Given the description of an element on the screen output the (x, y) to click on. 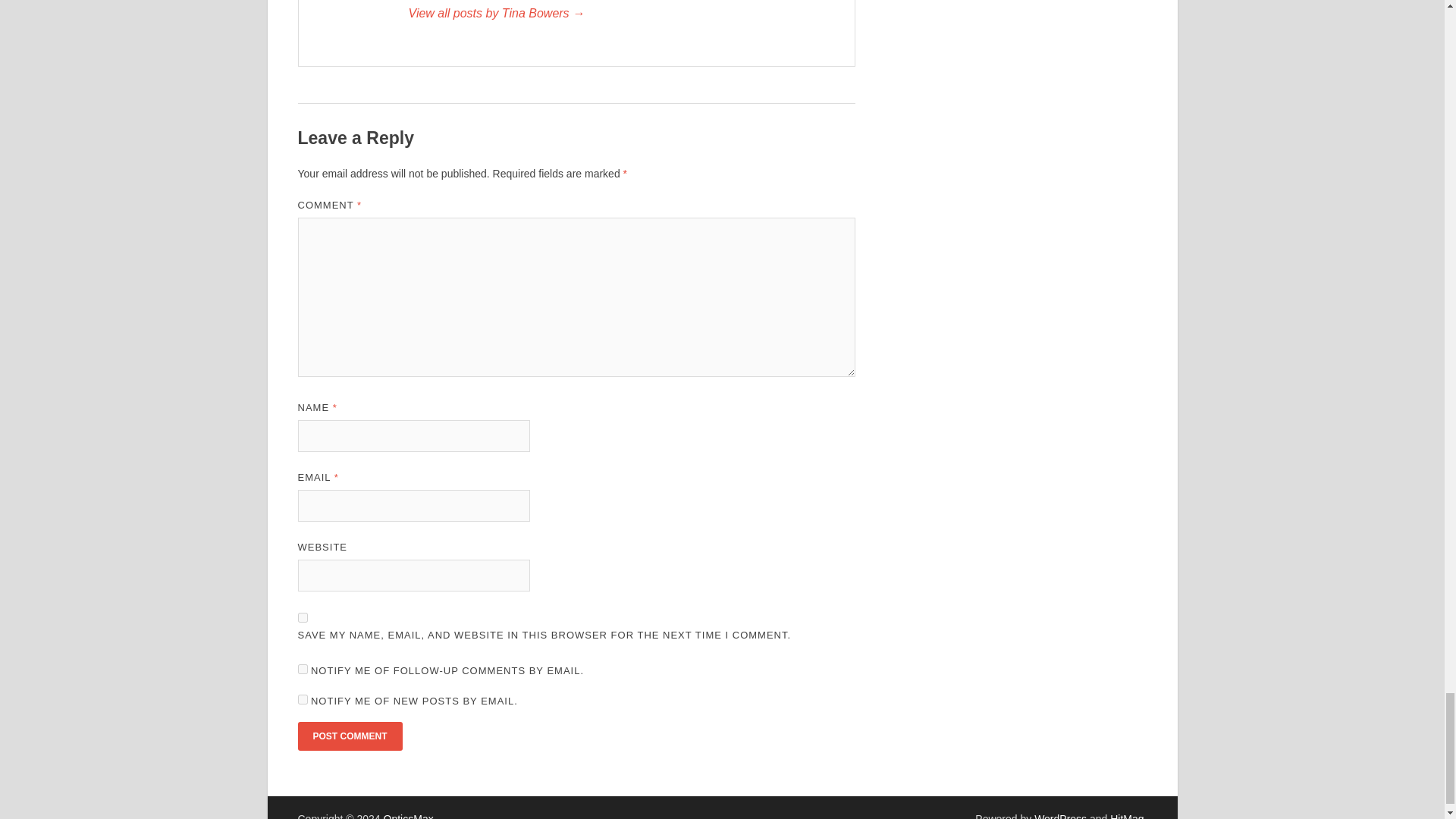
yes (302, 617)
subscribe (302, 669)
subscribe (302, 699)
Post Comment (349, 736)
